Given the description of an element on the screen output the (x, y) to click on. 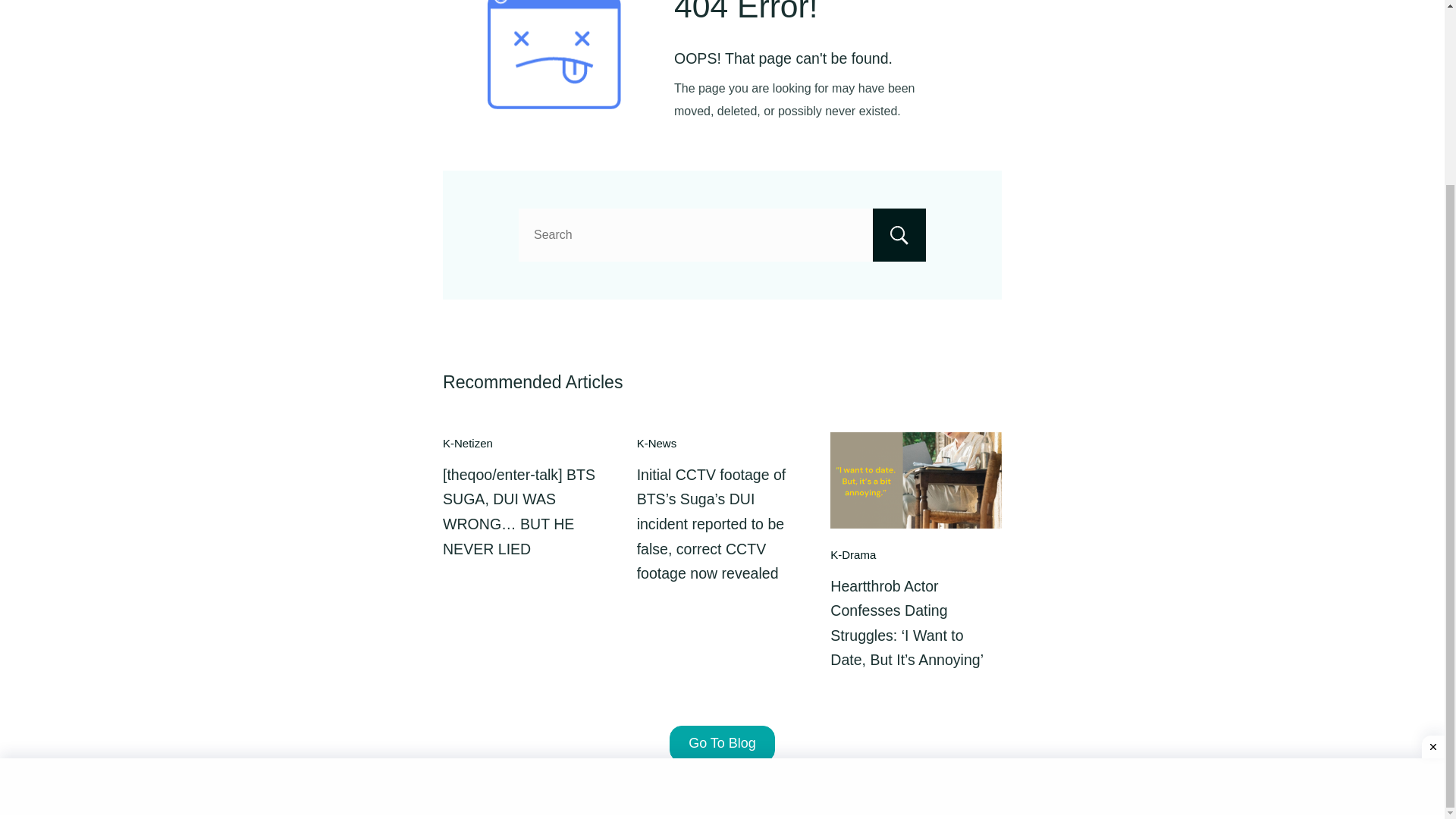
Search Input (722, 234)
Search (899, 234)
Search (899, 234)
Advertisement (722, 559)
